Given the description of an element on the screen output the (x, y) to click on. 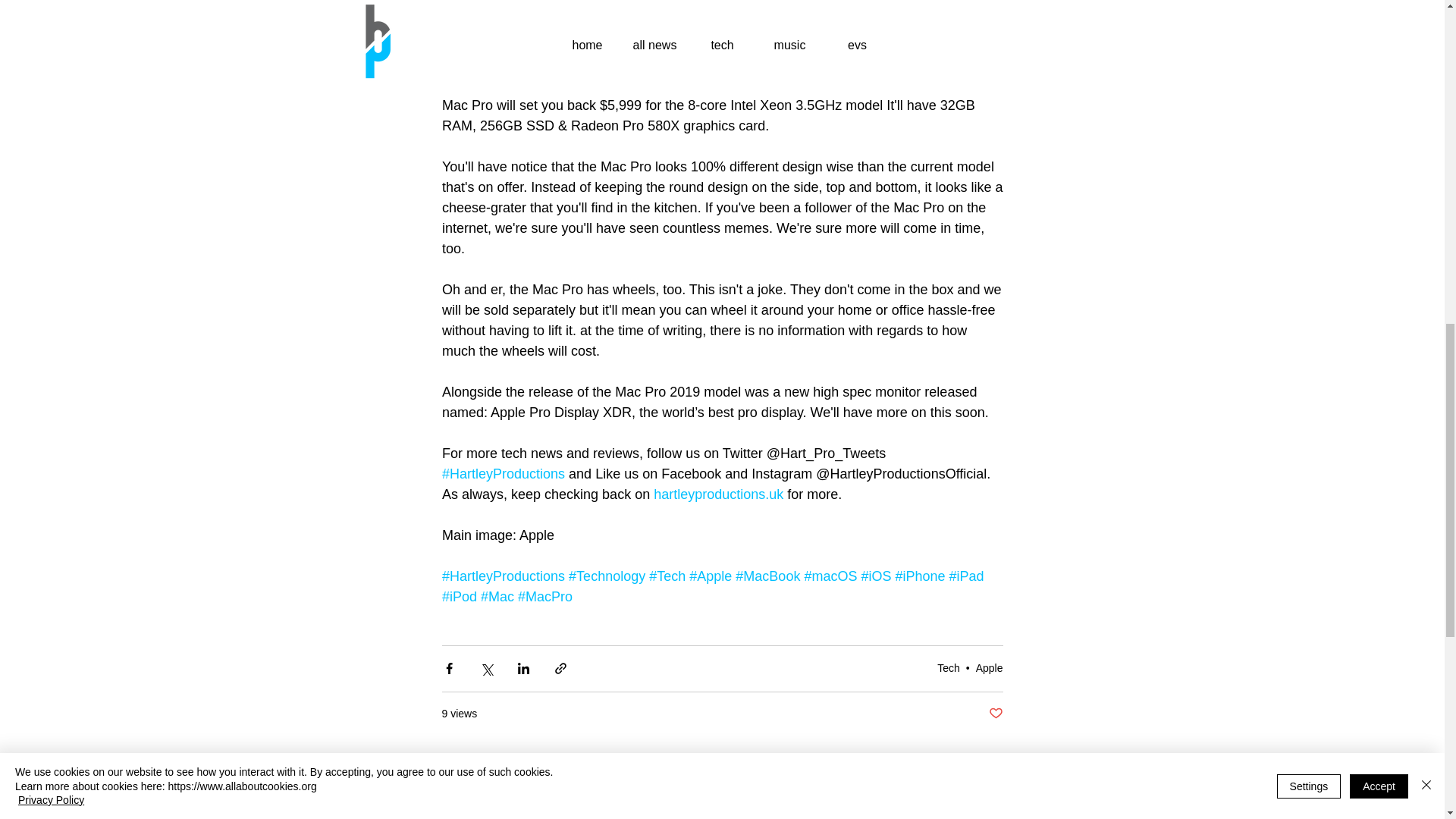
Apple (989, 667)
hartleyproductions.uk (718, 494)
Tech (948, 667)
